Given the description of an element on the screen output the (x, y) to click on. 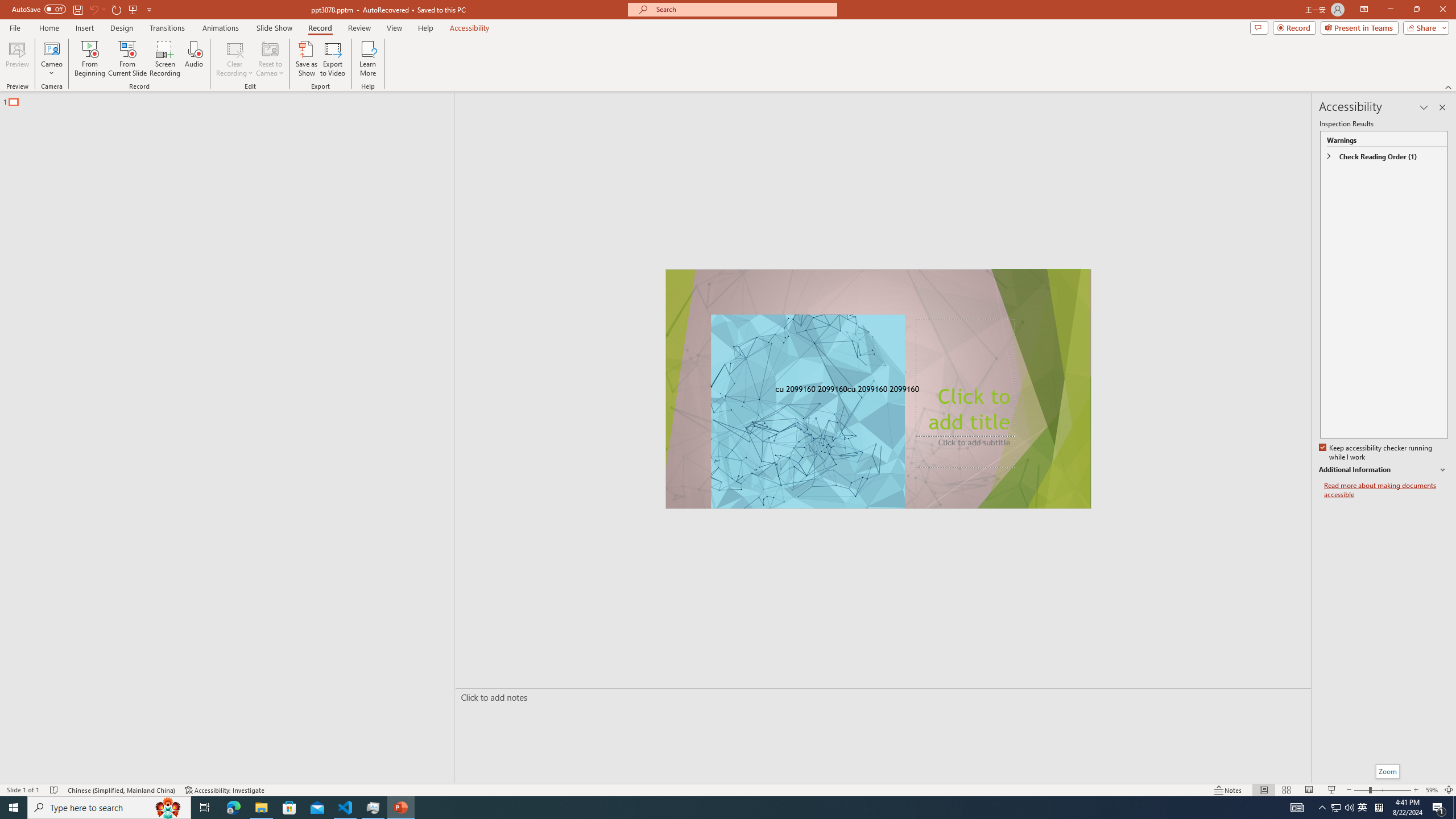
2403.02502v1.pdf (1340, 102)
symbol_LLM.pdf (1210, 102)
VMware Workstation Pro (32, 563)
2304.09121v3.pdf (1275, 26)
2404.05719v1.pdf (1405, 254)
